Given the description of an element on the screen output the (x, y) to click on. 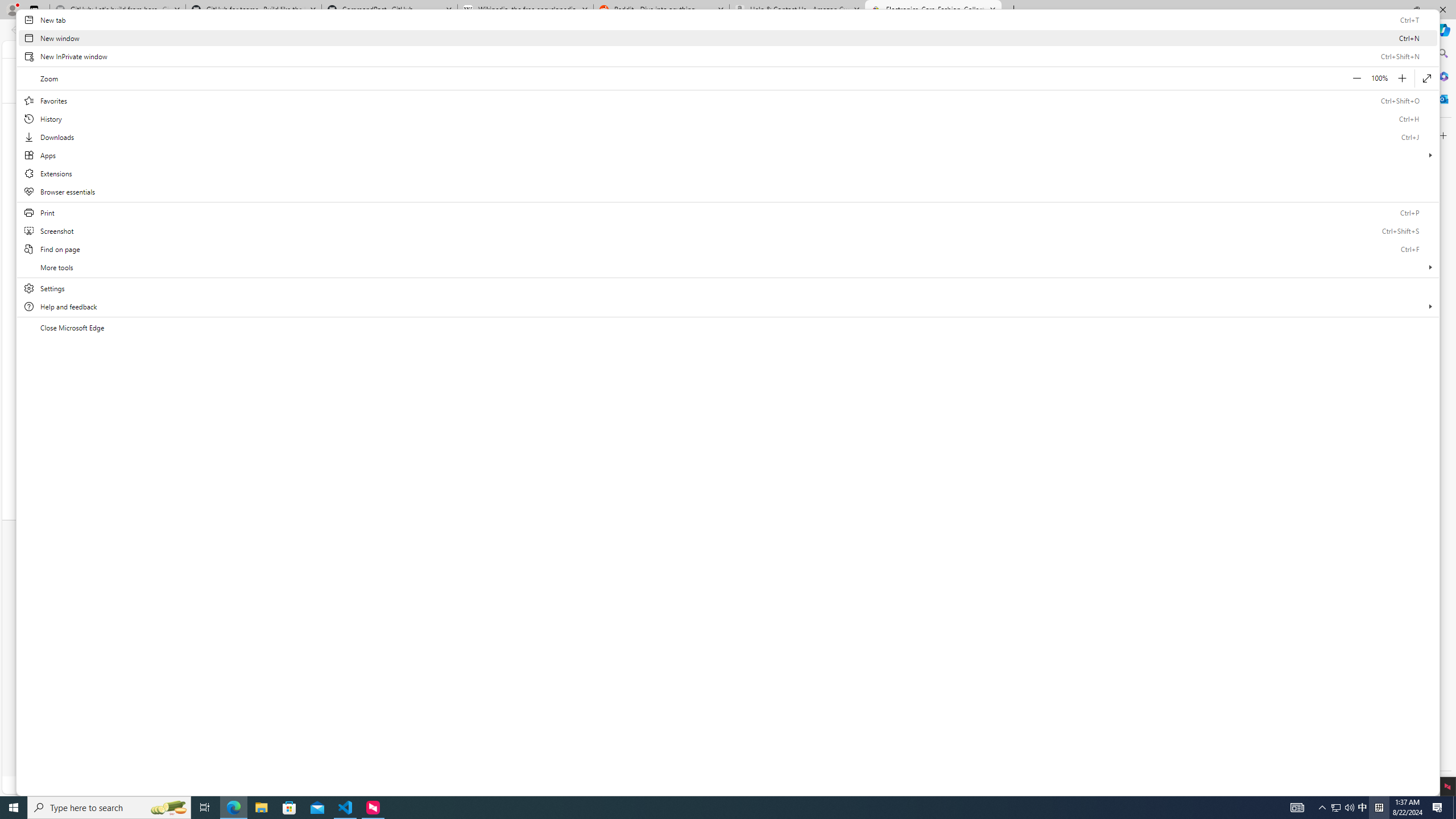
New window (727, 37)
Notifications (1026, 49)
eBay Home (394, 79)
eBay's Blogs (672, 573)
Reddit - Dive into anything (660, 9)
Site map (520, 665)
Find on page (727, 248)
Pre-loved Luxury (920, 433)
Daily Deals (464, 49)
Advertise with us (858, 641)
Extensions (727, 173)
Address and search bar (658, 29)
